Given the description of an element on the screen output the (x, y) to click on. 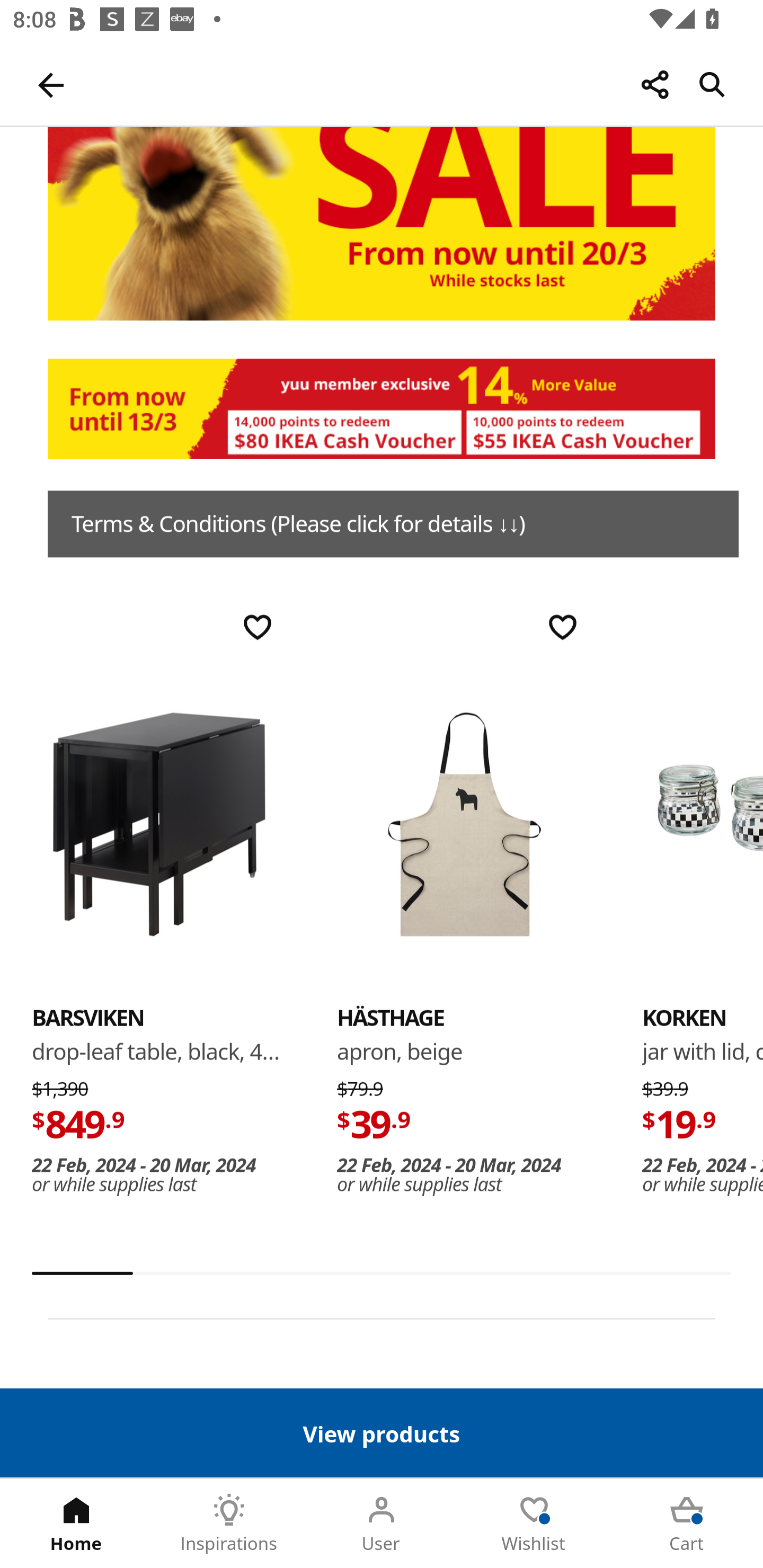
Terms & Conditions (Please click for details ↓↓) (393, 524)
BARSVIKEN (159, 823)
HÄSTHAGE (464, 823)
KORKEN (702, 823)
BARSVIKEN (88, 1017)
HÄSTHAGE (390, 1017)
KORKEN (684, 1017)
View products (381, 1432)
Home
Tab 1 of 5 (76, 1522)
Inspirations
Tab 2 of 5 (228, 1522)
User
Tab 3 of 5 (381, 1522)
Wishlist
Tab 4 of 5 (533, 1522)
Cart
Tab 5 of 5 (686, 1522)
